Given the description of an element on the screen output the (x, y) to click on. 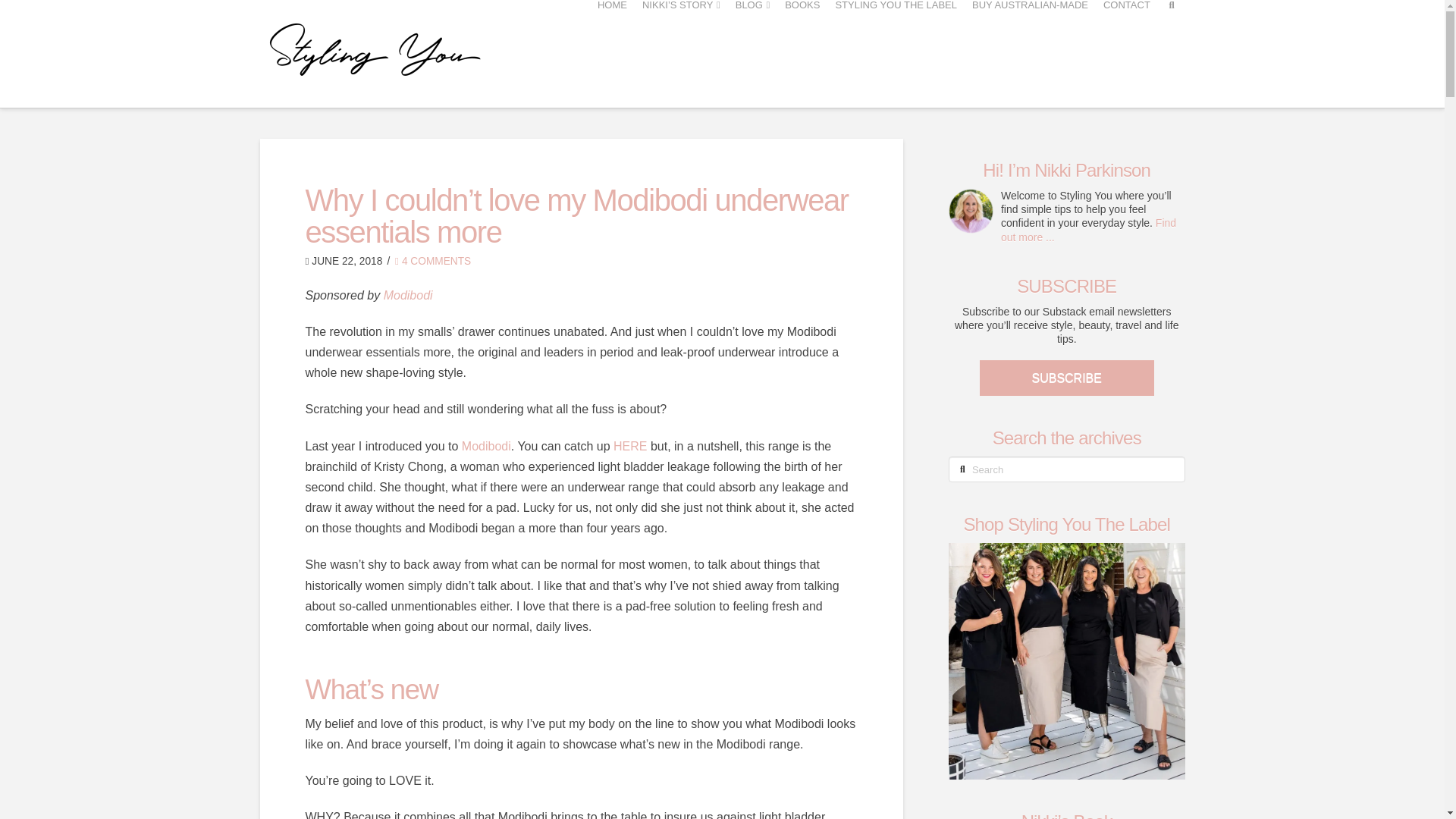
HERE (629, 445)
Modibodi (408, 295)
Modibodi (486, 445)
BUY AUSTRALIAN-MADE (1029, 49)
4 COMMENTS (432, 260)
STYLING YOU THE LABEL (895, 49)
